Given the description of an element on the screen output the (x, y) to click on. 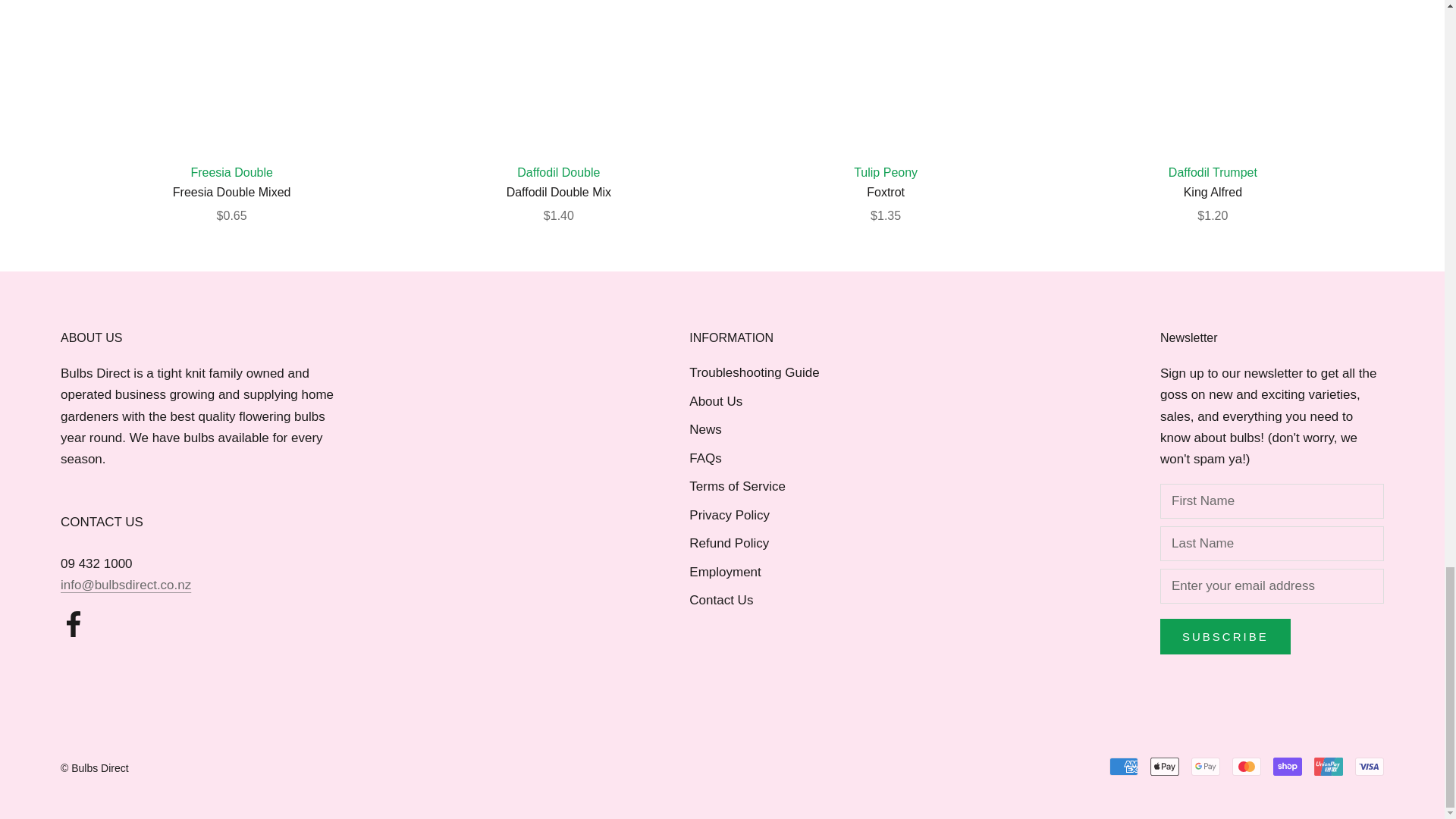
American Express (1123, 766)
Shop Pay (1286, 766)
Visa (1369, 766)
Union Pay (1328, 766)
Google Pay (1205, 766)
Apple Pay (1164, 766)
Mastercard (1245, 766)
